Given the description of an element on the screen output the (x, y) to click on. 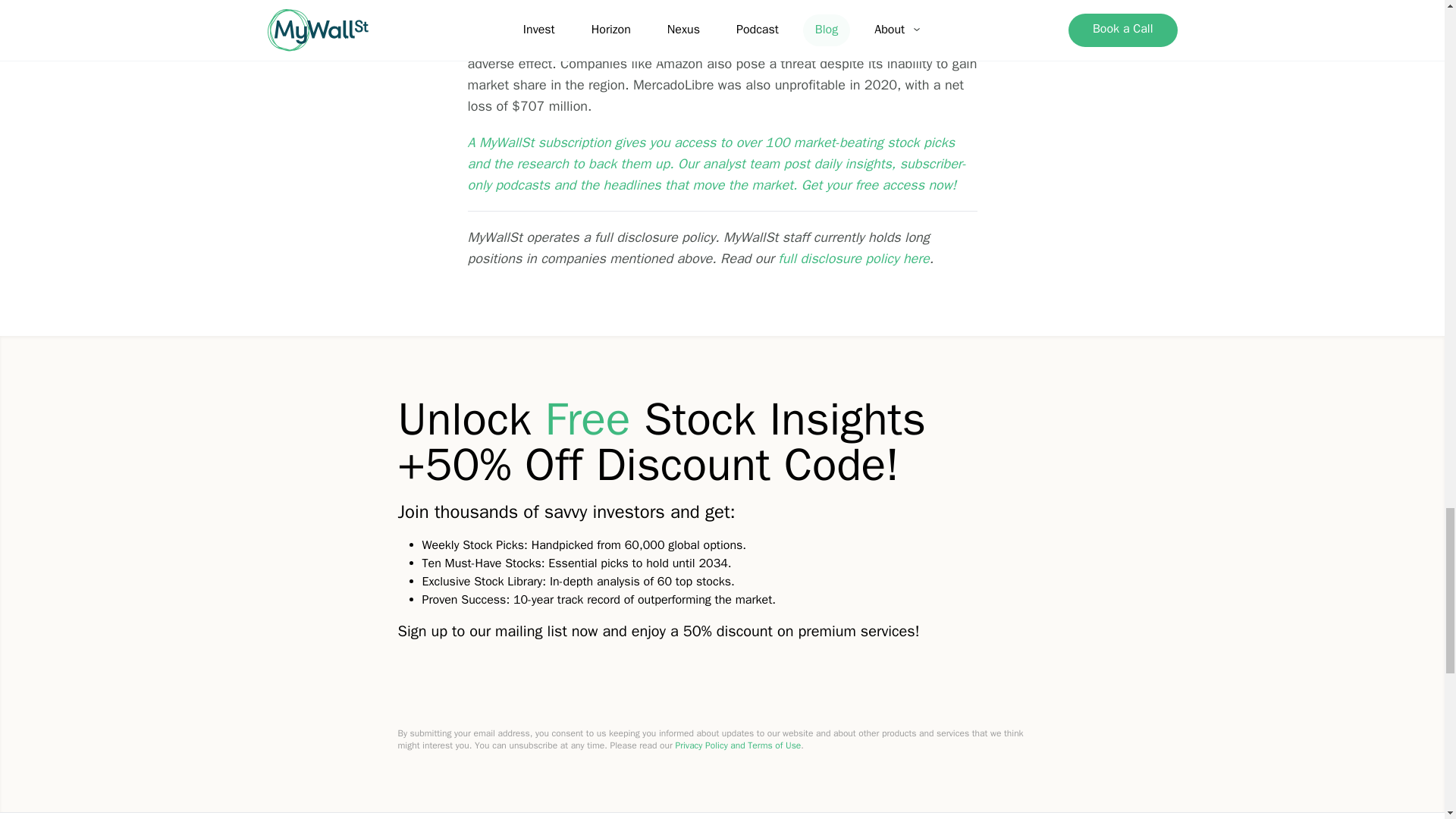
Privacy Policy and Terms of Use (737, 745)
full disclosure policy here (852, 258)
